Given the description of an element on the screen output the (x, y) to click on. 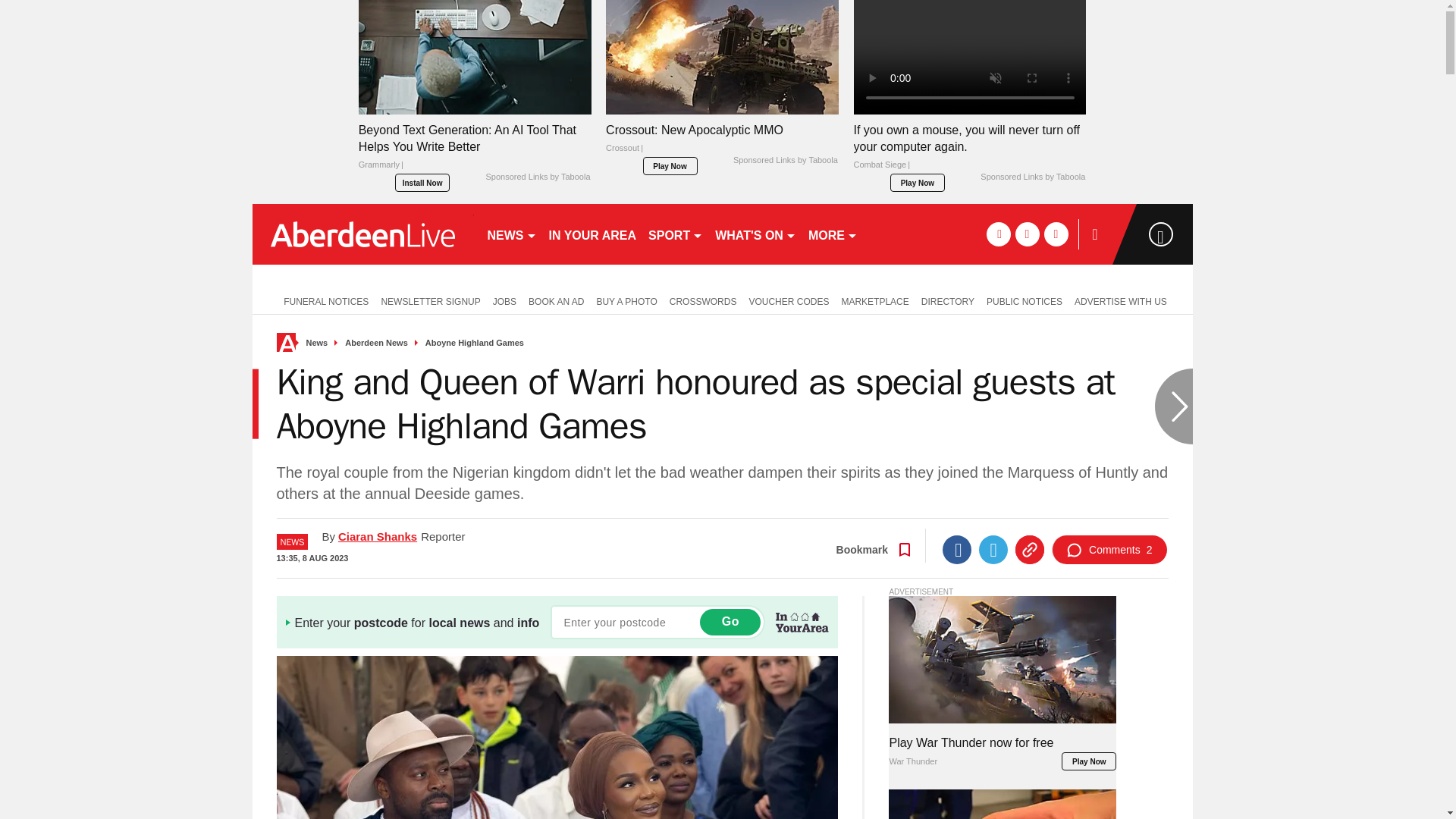
twitter (1026, 233)
Play Now (670, 166)
Facebook (956, 549)
Sponsored Links by Taboola (536, 176)
Crossout: New Apocalyptic MMO (721, 143)
Comments (1108, 549)
WHAT'S ON (755, 233)
IN YOUR AREA (593, 233)
Twitter (992, 549)
Go (730, 622)
Install Now (421, 182)
facebook (997, 233)
Play Now (916, 182)
NEWS (510, 233)
